Given the description of an element on the screen output the (x, y) to click on. 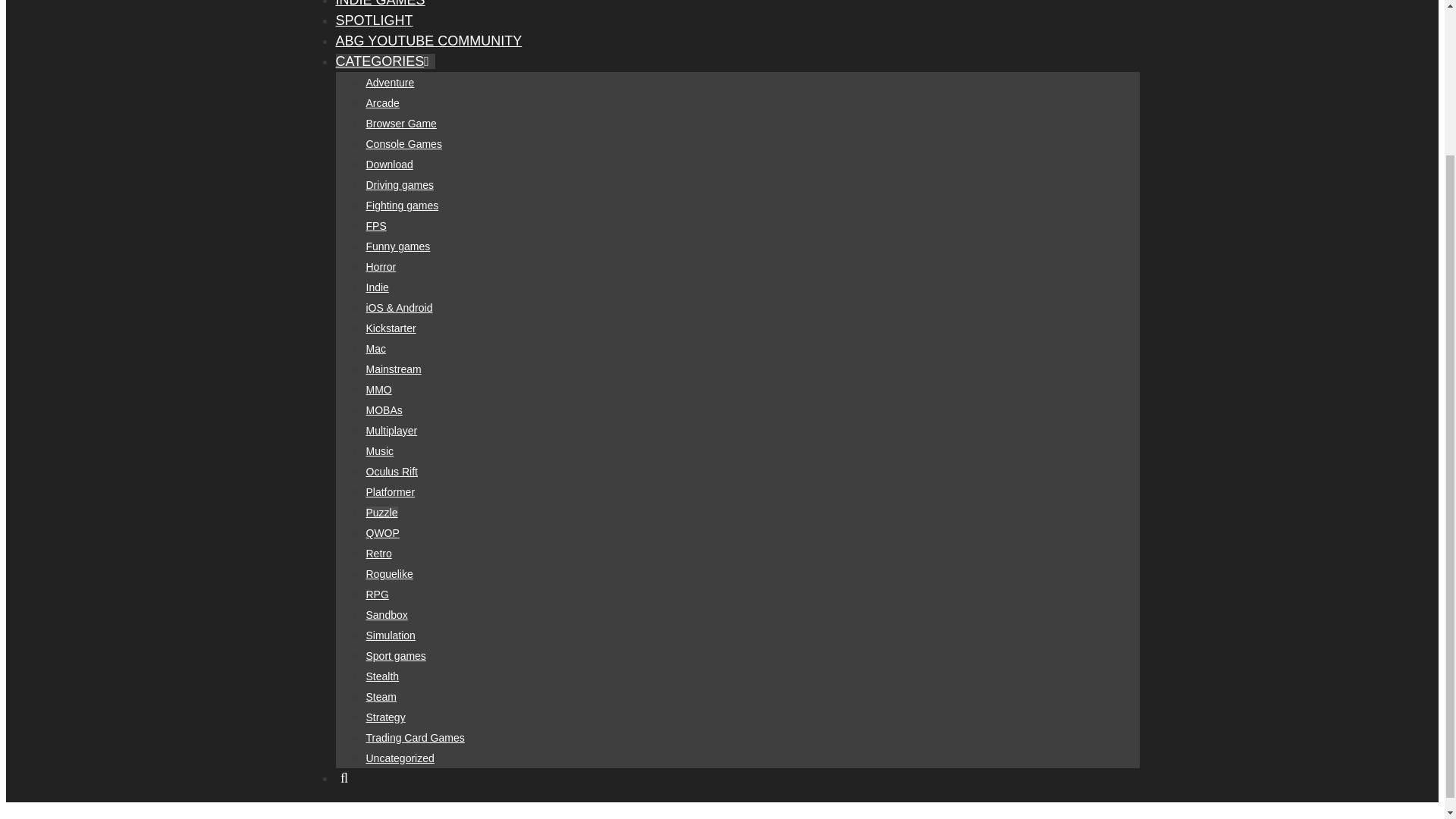
Console Games (403, 143)
Adventure (389, 82)
INDIE GAMES (379, 3)
Puzzle (381, 512)
QWOP (381, 532)
Sport games (395, 655)
Indie (376, 287)
RPG (376, 594)
Driving games (398, 184)
Retro (378, 553)
Mac (375, 348)
MMO (378, 389)
Oculus Rift (390, 471)
Stealth (381, 676)
Funny games (397, 246)
